Given the description of an element on the screen output the (x, y) to click on. 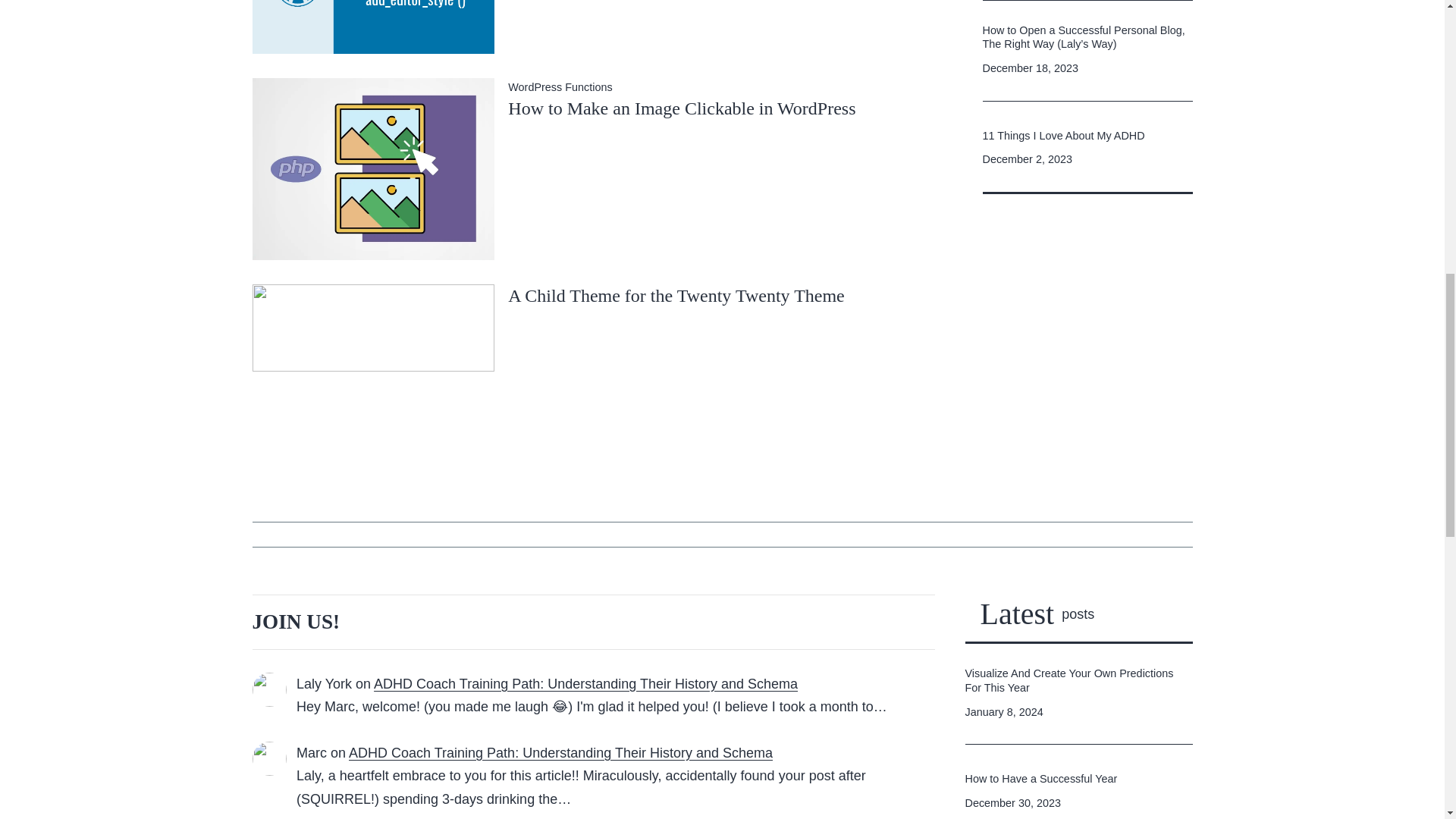
A Child Theme for the Twenty Twenty Theme (373, 355)
Laly York (324, 683)
How to Make an Image Clickable in WordPress (373, 167)
A Child Theme for the Twenty Twenty Theme (676, 295)
11 Things I Love About My ADHD (1063, 135)
How to Make an Image Clickable in WordPress (682, 107)
How to Make an Image Clickable in WordPress (682, 107)
A Child Theme for the Twenty Twenty Theme (676, 295)
